Given the description of an element on the screen output the (x, y) to click on. 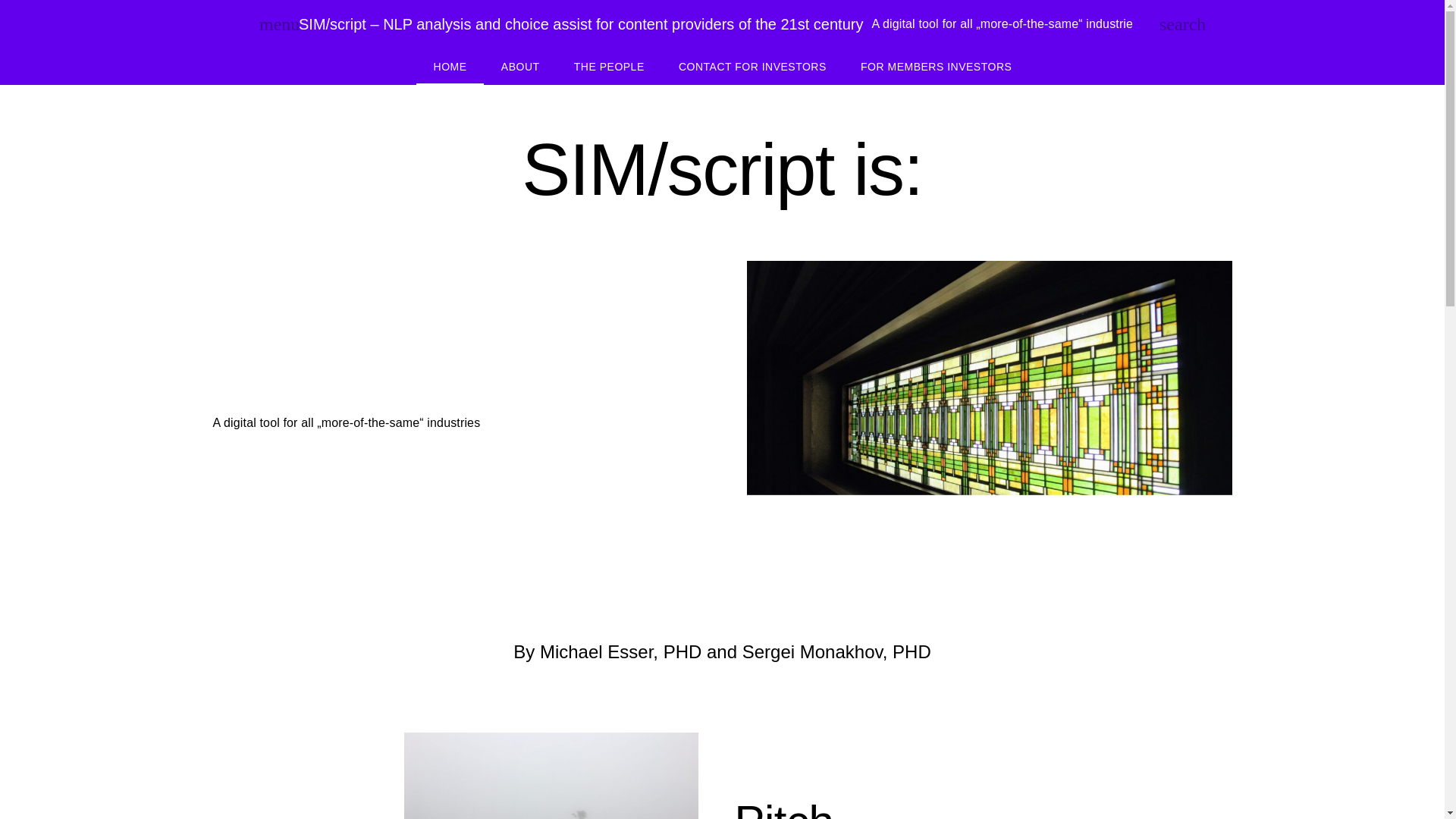
ABOUT (519, 66)
menu (268, 23)
HOME (448, 66)
FOR MEMBERS INVESTORS (936, 66)
search (1168, 23)
CONTACT FOR INVESTORS (752, 66)
THE PEOPLE (608, 66)
